Given the description of an element on the screen output the (x, y) to click on. 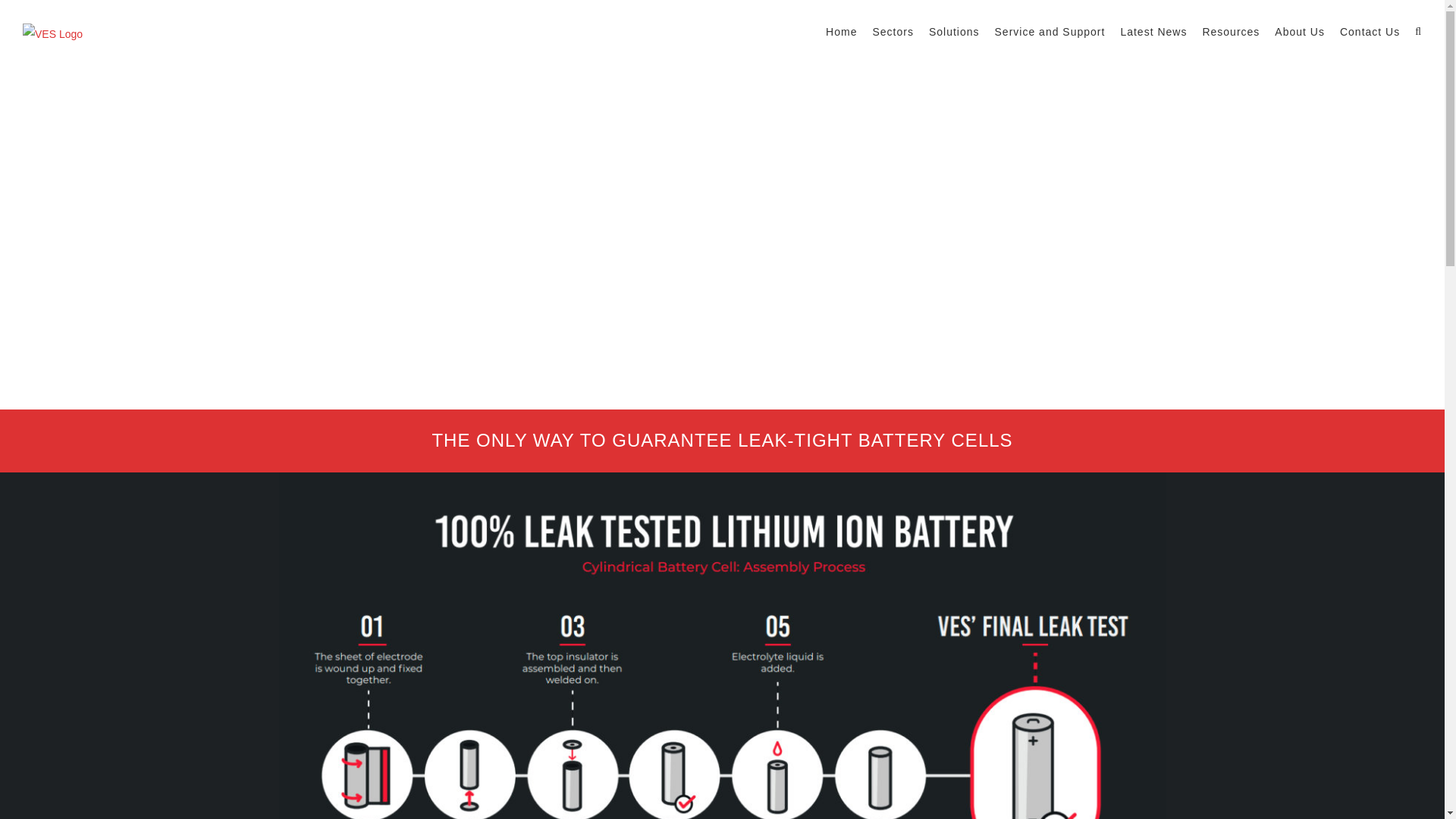
Contact Us (1369, 31)
Resources (1230, 31)
Latest News (1152, 31)
Service and Support (1049, 31)
